Given the description of an element on the screen output the (x, y) to click on. 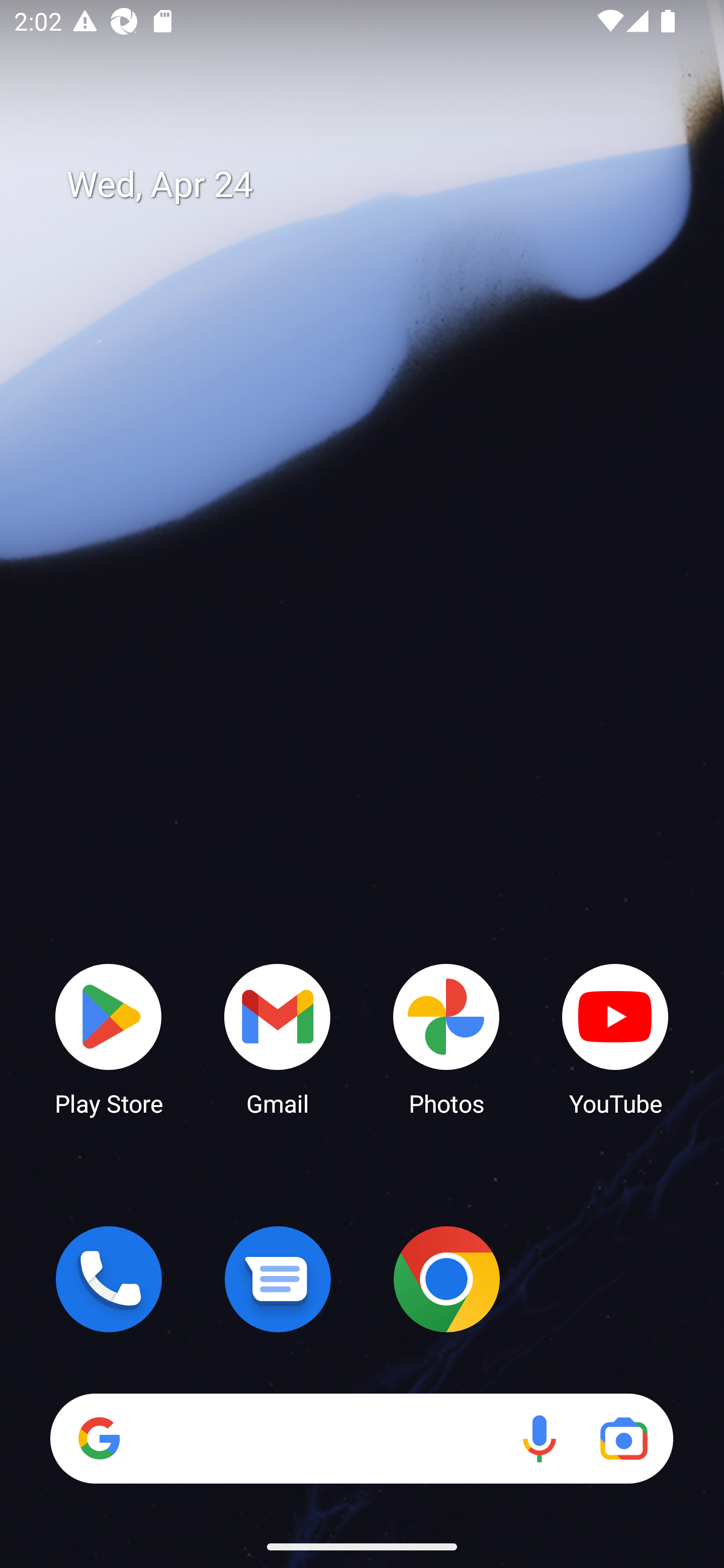
Wed, Apr 24 (375, 184)
Play Store (108, 1038)
Gmail (277, 1038)
Photos (445, 1038)
YouTube (615, 1038)
Phone (108, 1279)
Messages (277, 1279)
Chrome (446, 1279)
Search Voice search Google Lens (361, 1438)
Voice search (539, 1438)
Google Lens (623, 1438)
